Given the description of an element on the screen output the (x, y) to click on. 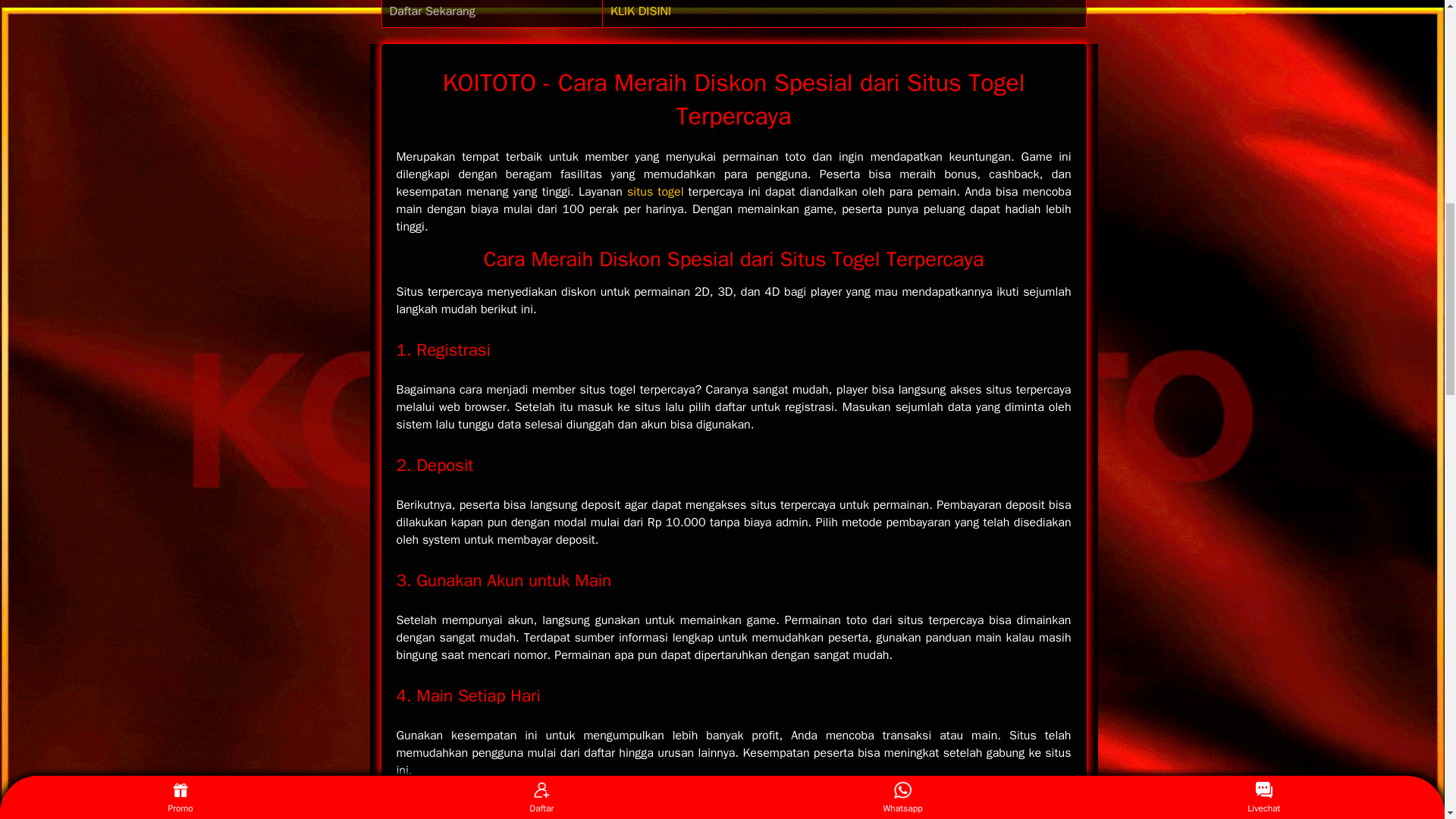
situs togel (655, 191)
situs togel (655, 191)
KLIK DISINI (640, 11)
